Given the description of an element on the screen output the (x, y) to click on. 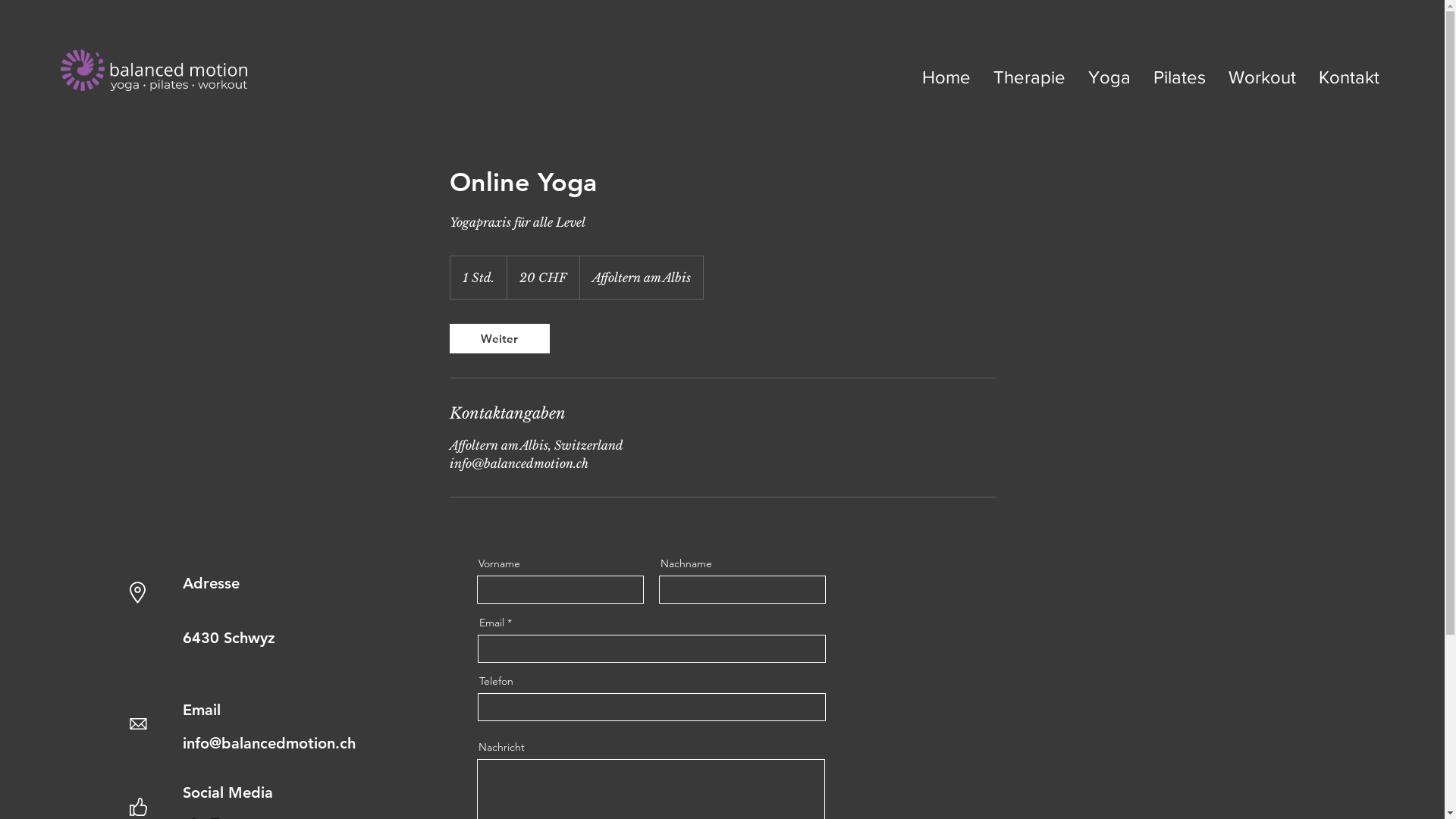
Yoga Element type: text (1109, 76)
Weiter Element type: text (498, 338)
Workout Element type: text (1262, 76)
Kontakt Element type: text (1348, 76)
Pilates Element type: text (1179, 76)
Homepage Element type: hover (153, 69)
info@balancedmotion.ch Element type: text (268, 743)
Home Element type: text (946, 76)
Therapie Element type: text (1029, 76)
